Given the description of an element on the screen output the (x, y) to click on. 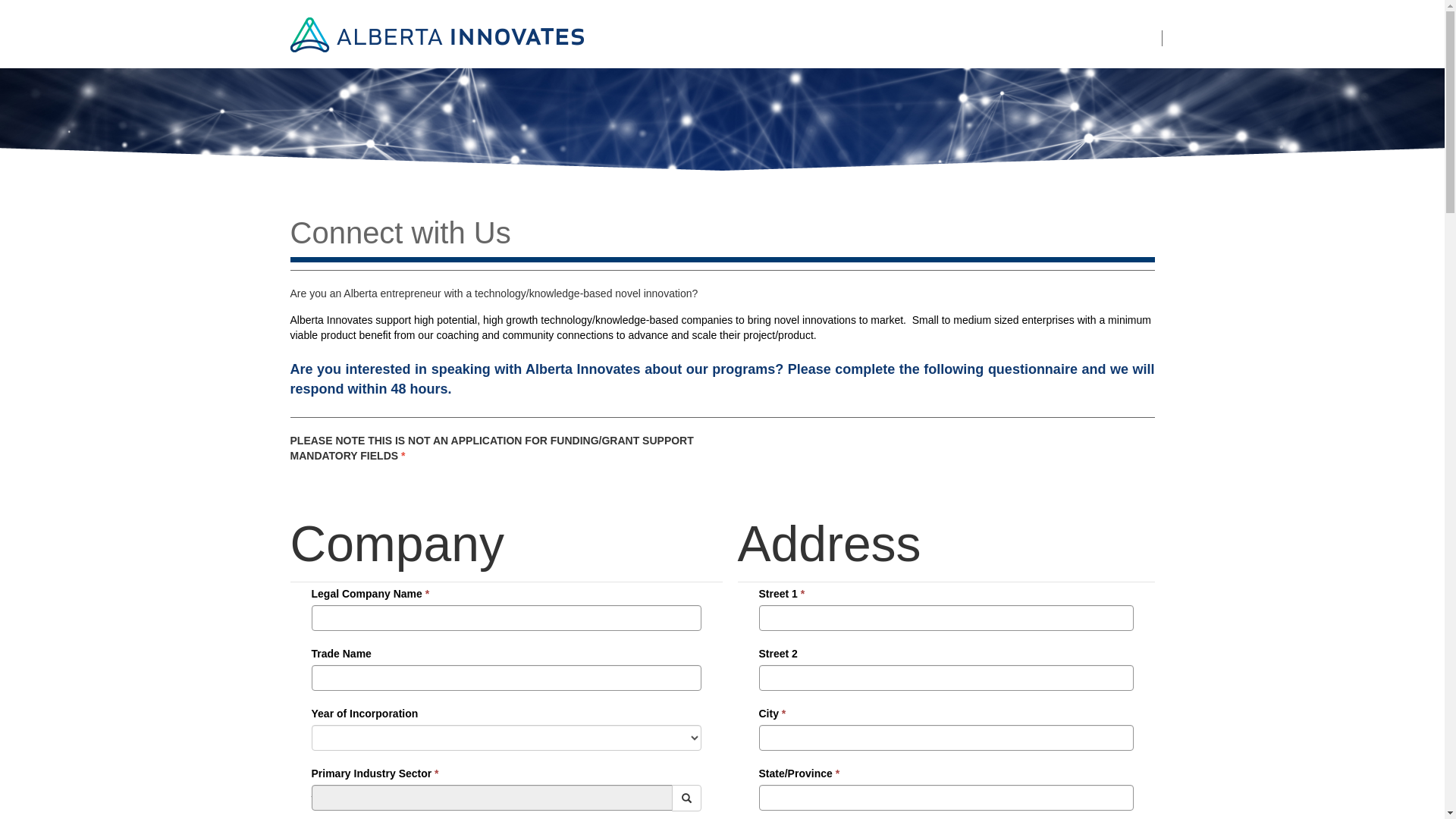
Street 1 is a required field. Element type: hover (945, 617)
Custom Portal Element type: hover (436, 32)
Launch lookup modal Element type: text (686, 797)
City is a required field. Element type: hover (945, 737)
State/Province is a required field. Element type: hover (945, 797)
Legal Company Name is a required field. Element type: hover (505, 617)
